Given the description of an element on the screen output the (x, y) to click on. 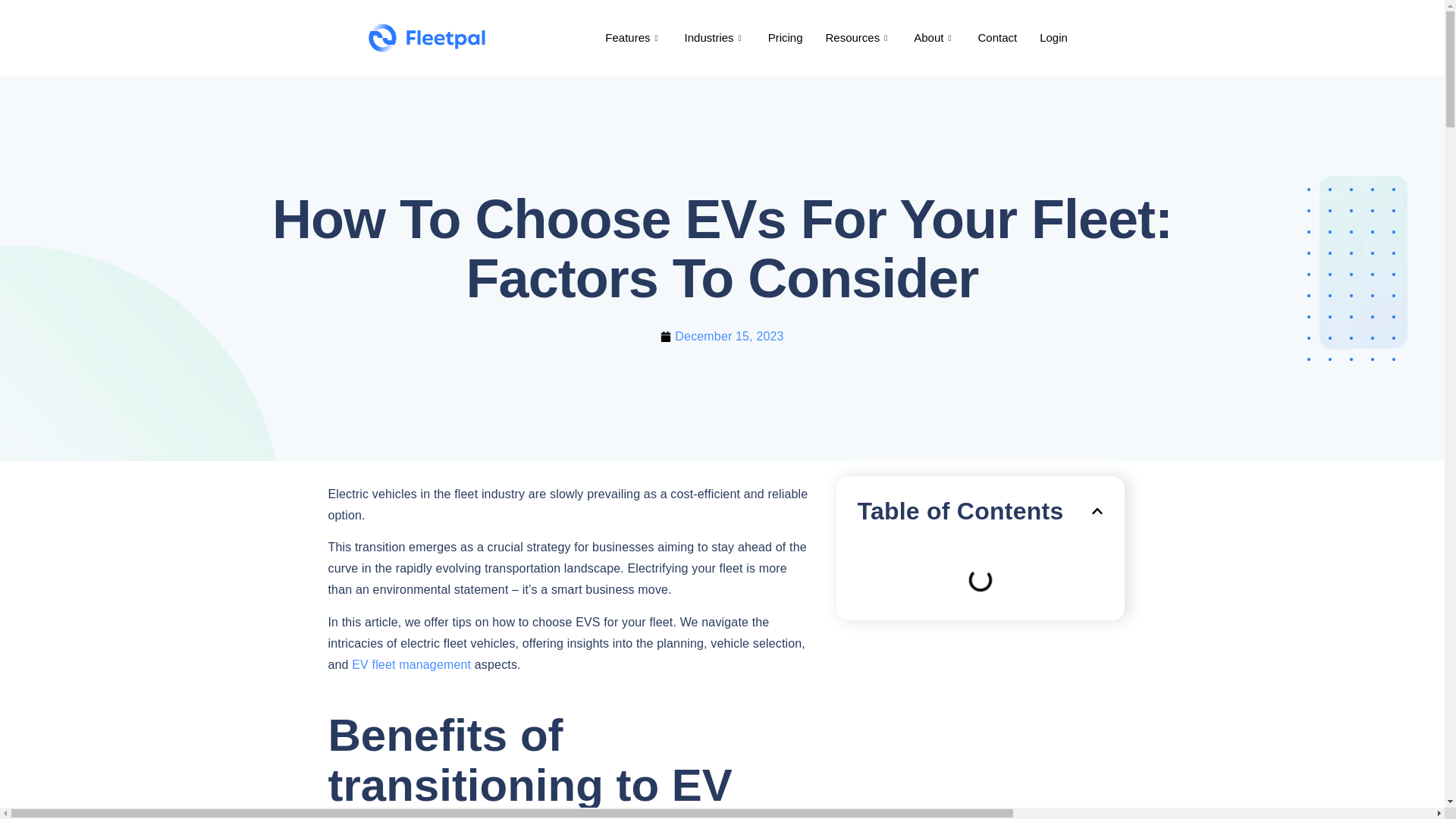
Features (633, 37)
Contact (996, 37)
Pricing (785, 37)
Resources (857, 37)
Industries (714, 37)
About (934, 37)
